Given the description of an element on the screen output the (x, y) to click on. 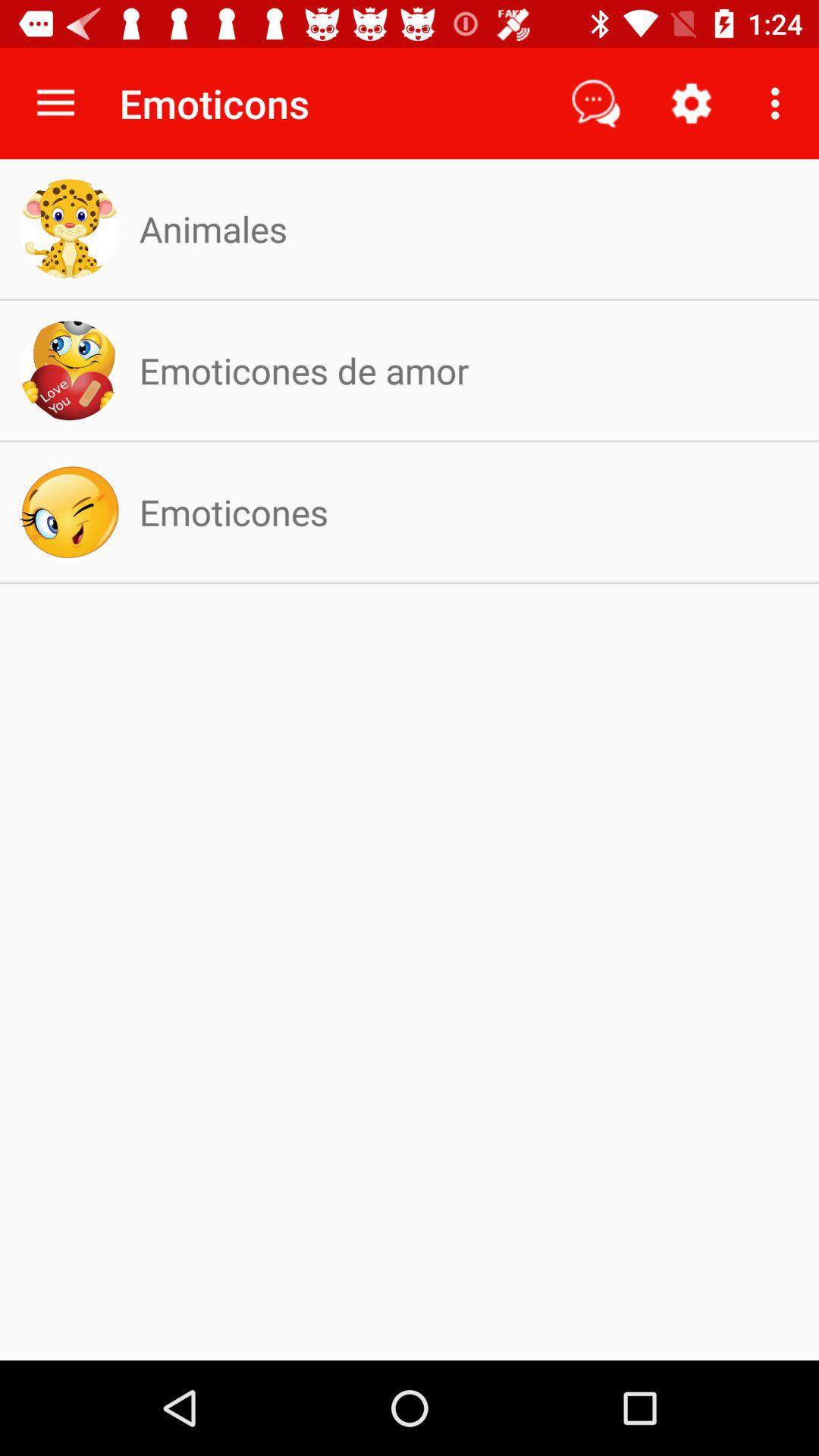
choose the item above emoticones de amor icon (213, 228)
